Given the description of an element on the screen output the (x, y) to click on. 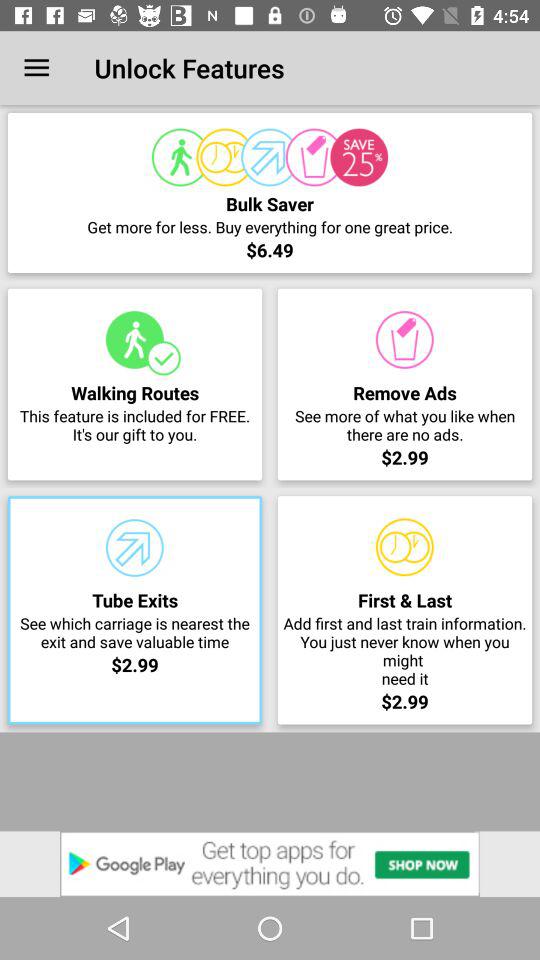
turn on the icon to the left of the unlock features (36, 68)
